Given the description of an element on the screen output the (x, y) to click on. 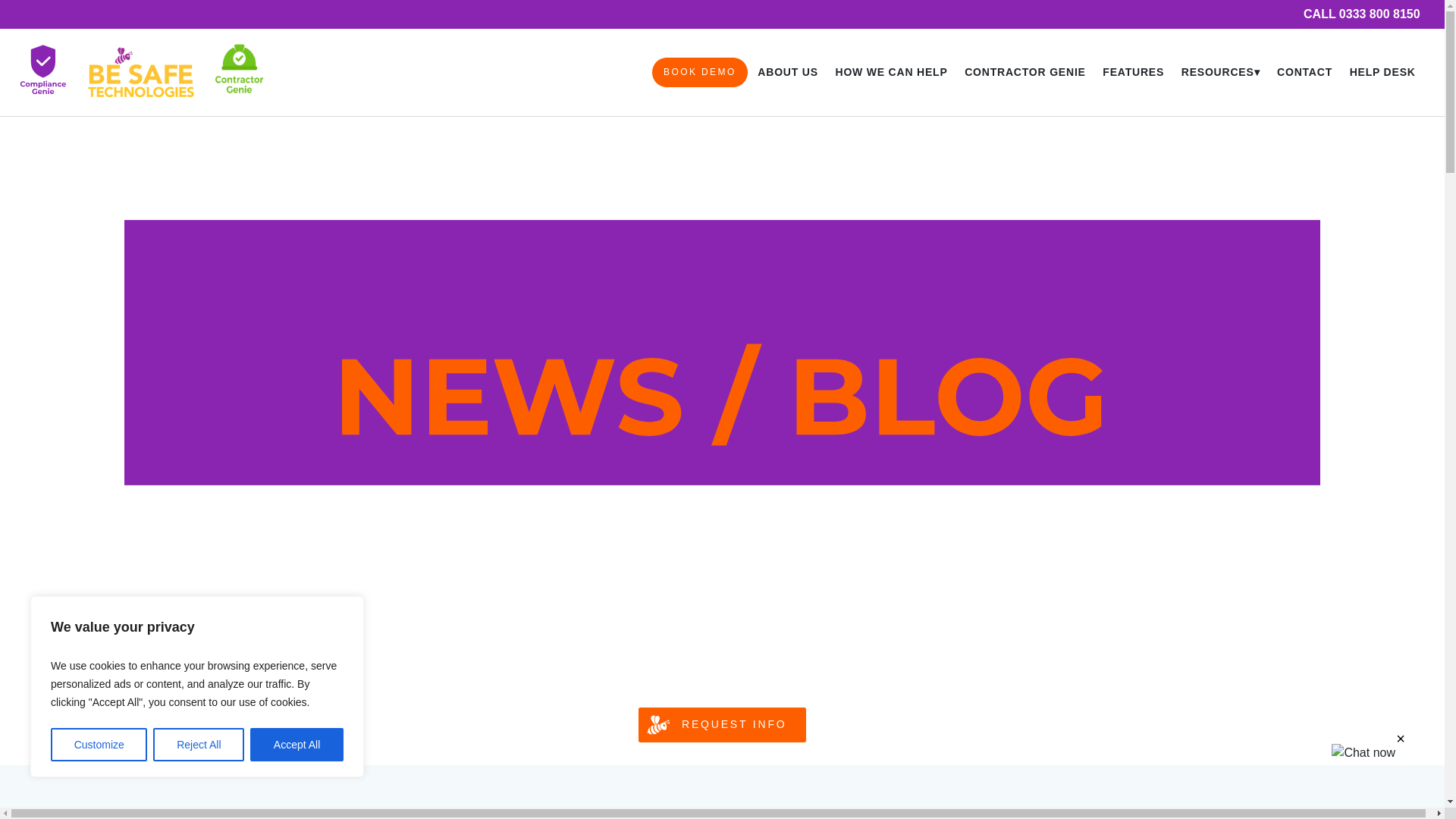
LiveChat chat widget (1412, 775)
CONTRACTOR GENIE (1024, 72)
FEATURES (1133, 72)
RESOURCES (1219, 72)
Customize (98, 744)
HOW WE CAN HELP (890, 72)
0333 800 8150 (1362, 13)
Reject All (198, 744)
ABOUT US (787, 72)
HELP DESK (1382, 72)
REQUEST INFO (721, 724)
BOOK DEMO (699, 72)
Accept All (296, 744)
CONTACT (1305, 72)
